Given the description of an element on the screen output the (x, y) to click on. 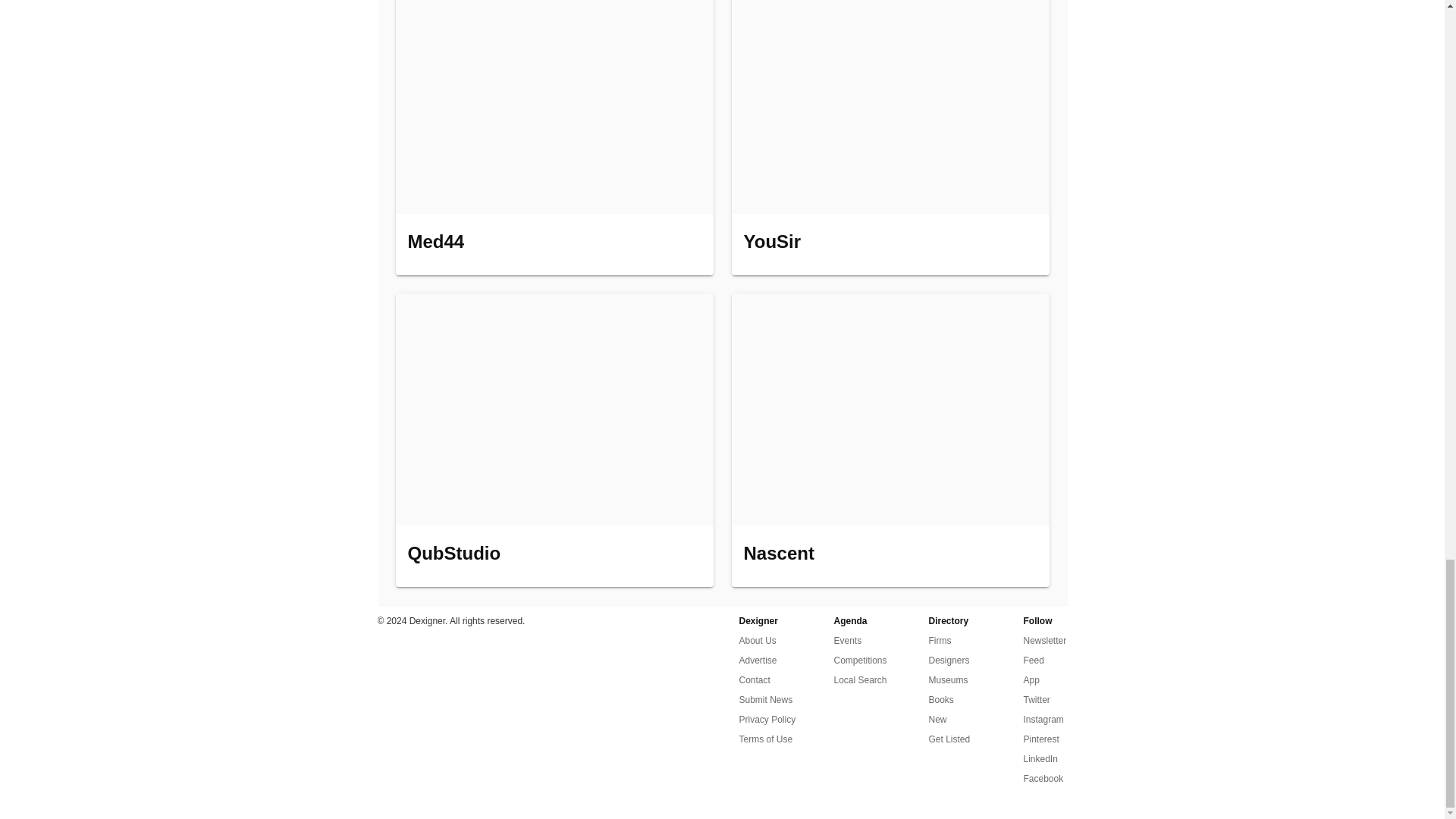
QubStudio (554, 440)
Contact (754, 679)
Submit News (765, 700)
About Us (757, 640)
Terms of Use (765, 739)
YouSir (889, 137)
Advertise (757, 660)
Nascent (889, 440)
Med44 (554, 137)
Privacy Policy (766, 719)
